Given the description of an element on the screen output the (x, y) to click on. 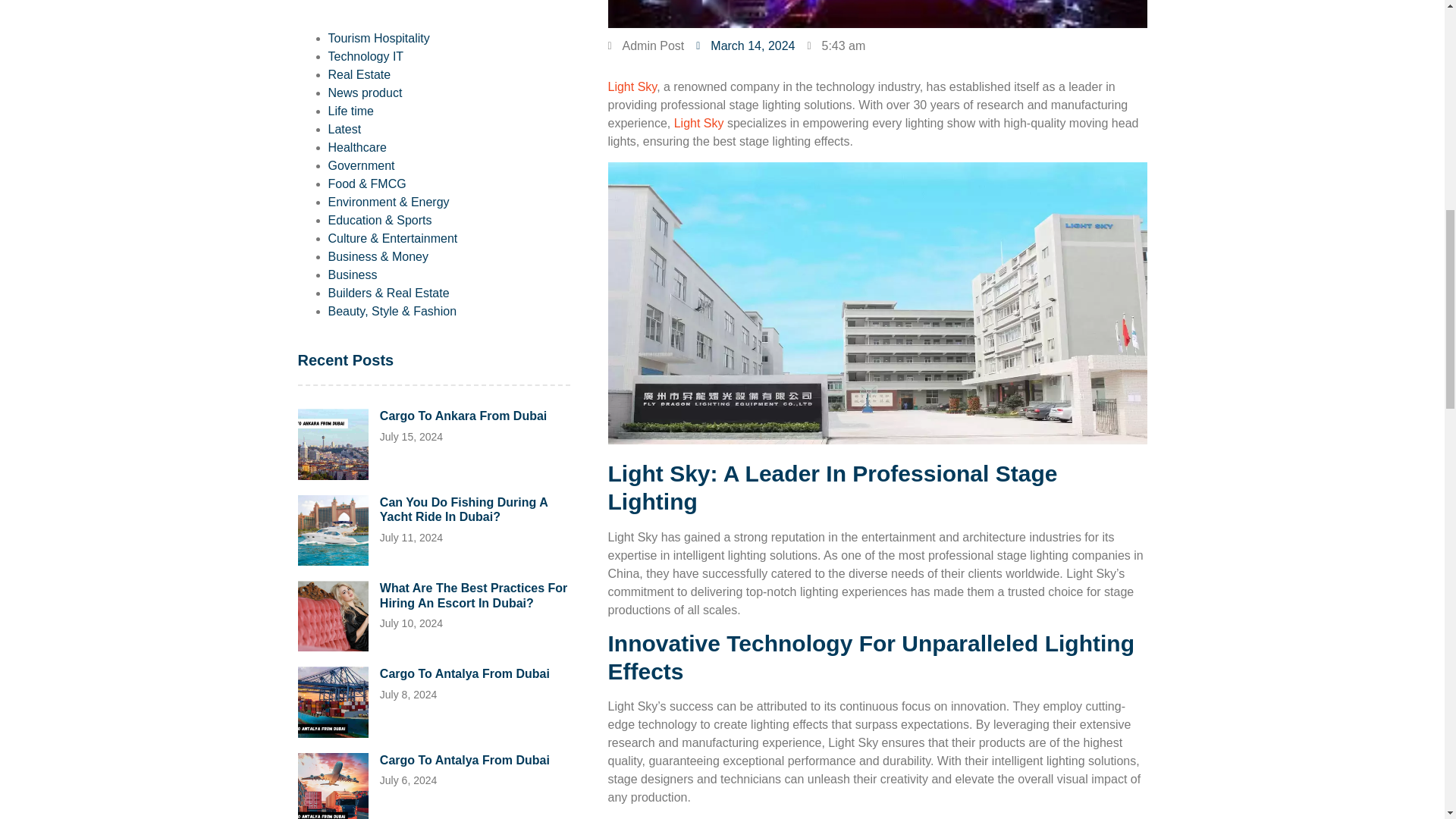
Tourism Hospitality (378, 38)
Technology IT (365, 56)
